Given the description of an element on the screen output the (x, y) to click on. 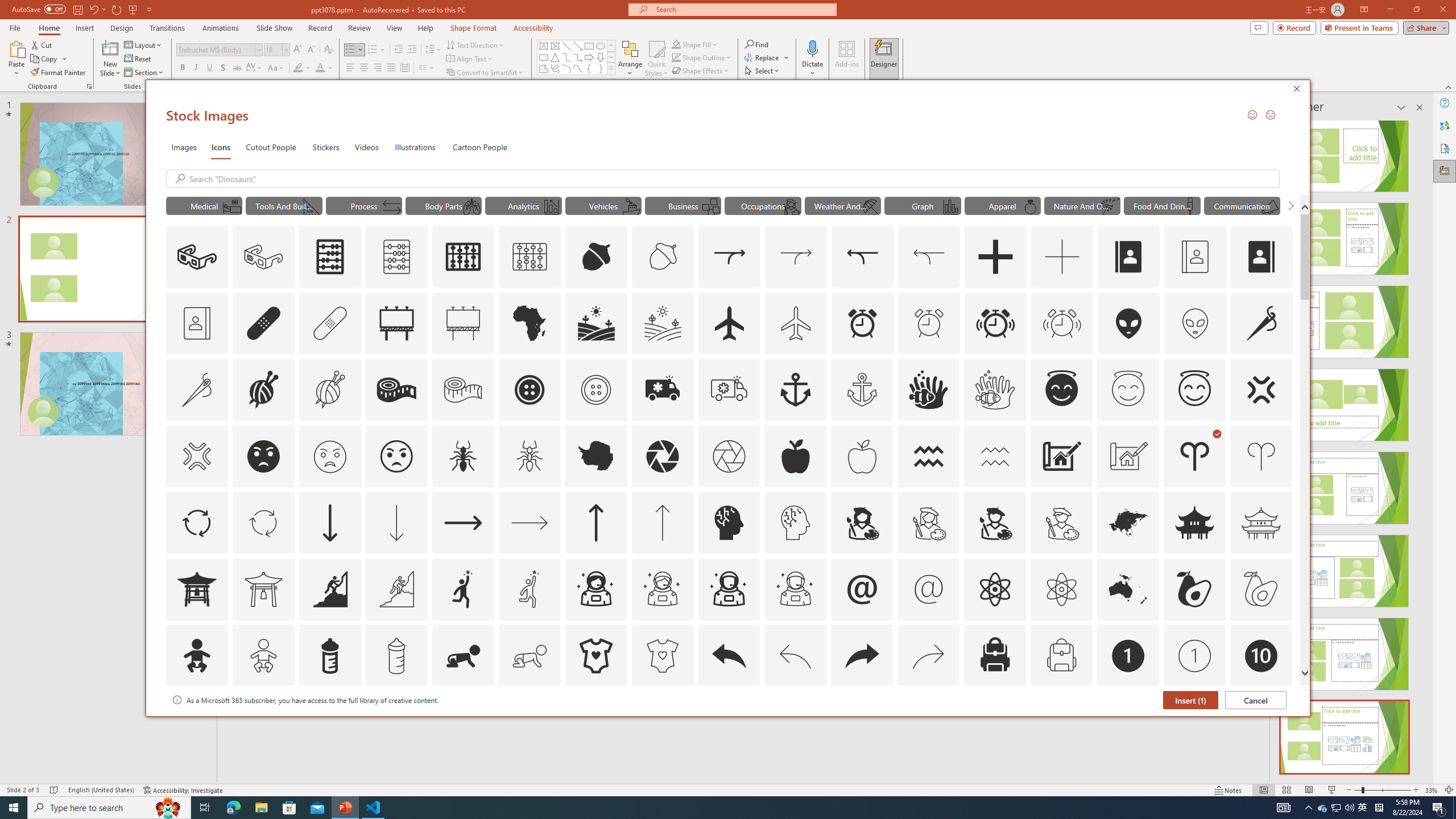
AutomationID: Icons_Back_LTR_M (795, 655)
AutomationID: Icons_AstronautFemale_M (662, 588)
AutomationID: Icons_AlterationsTailoring_M (196, 389)
Send a Frown (1269, 114)
AutomationID: Icons_ArtificialIntelligence_M (795, 522)
AutomationID: Icons_Aperture_M (729, 455)
AutomationID: Icons_Badge1_M (1194, 655)
AutomationID: Icons_Badge2 (263, 721)
AutomationID: Icons_Australia (1128, 588)
